Given the description of an element on the screen output the (x, y) to click on. 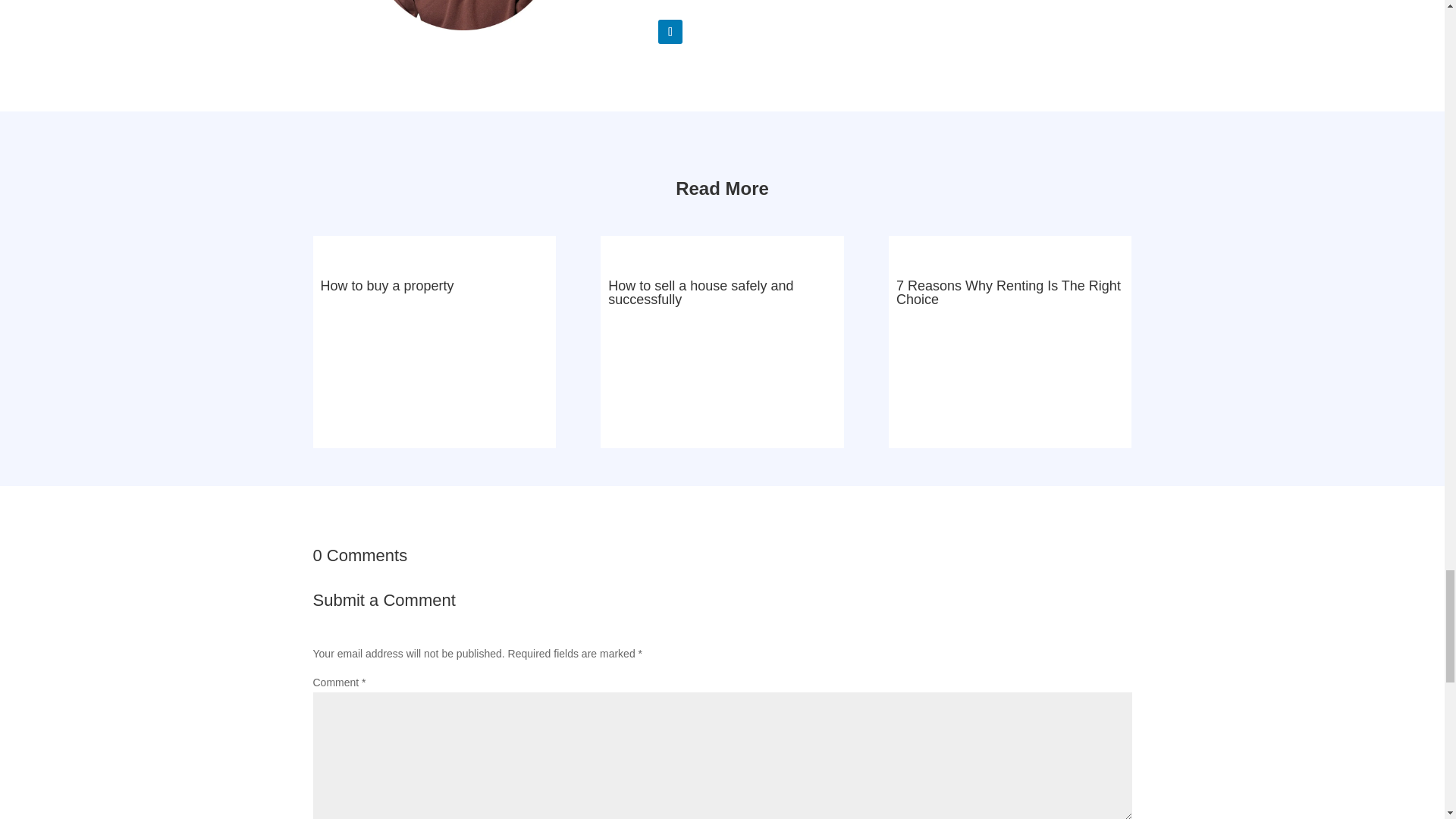
Follow on LinkedIn (670, 31)
donnell-bailey (462, 15)
